Given the description of an element on the screen output the (x, y) to click on. 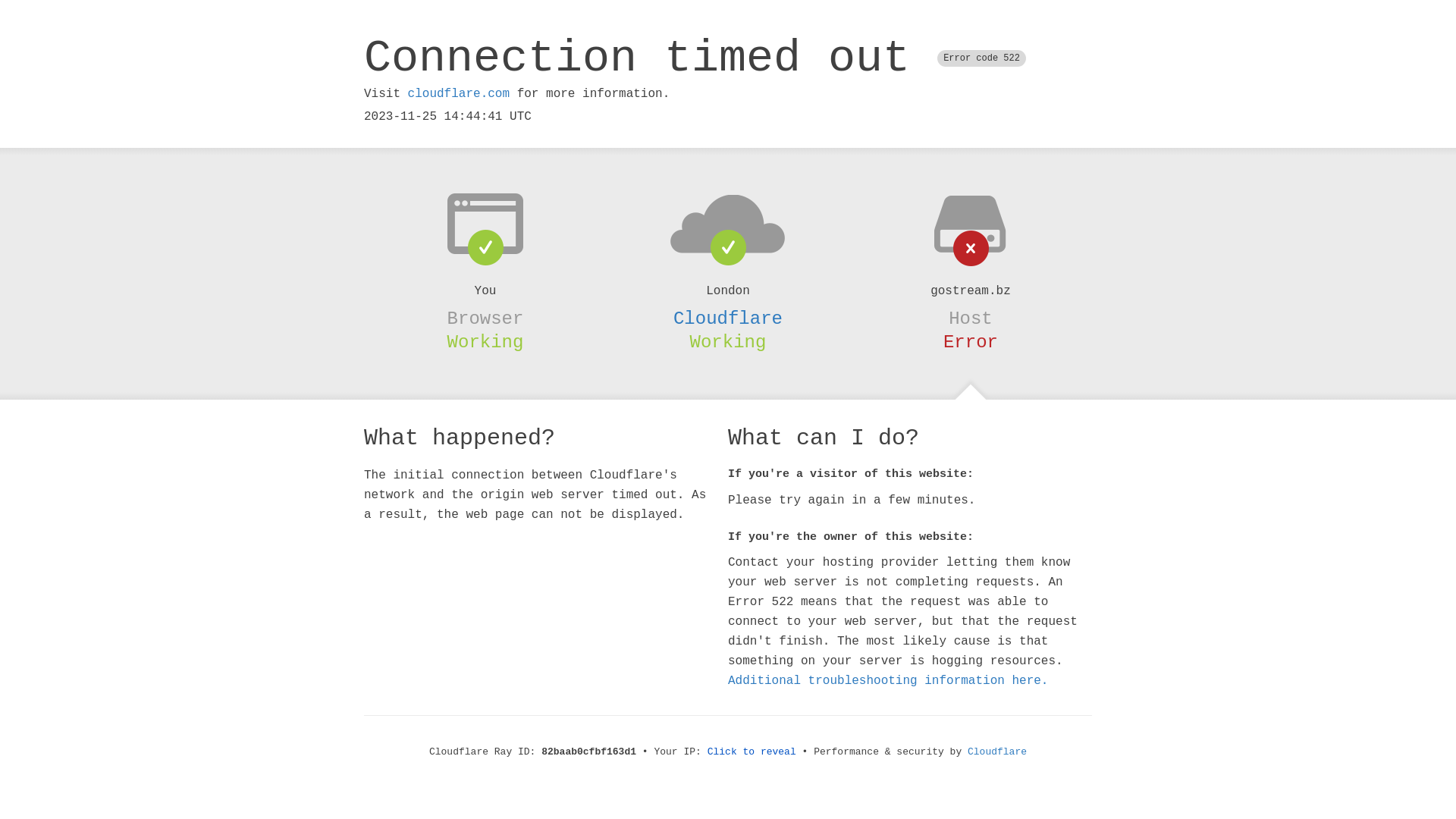
cloudflare.com Element type: text (458, 93)
Additional troubleshooting information here. Element type: text (888, 680)
Cloudflare Element type: text (727, 318)
Click to reveal Element type: text (751, 751)
Cloudflare Element type: text (996, 751)
